Given the description of an element on the screen output the (x, y) to click on. 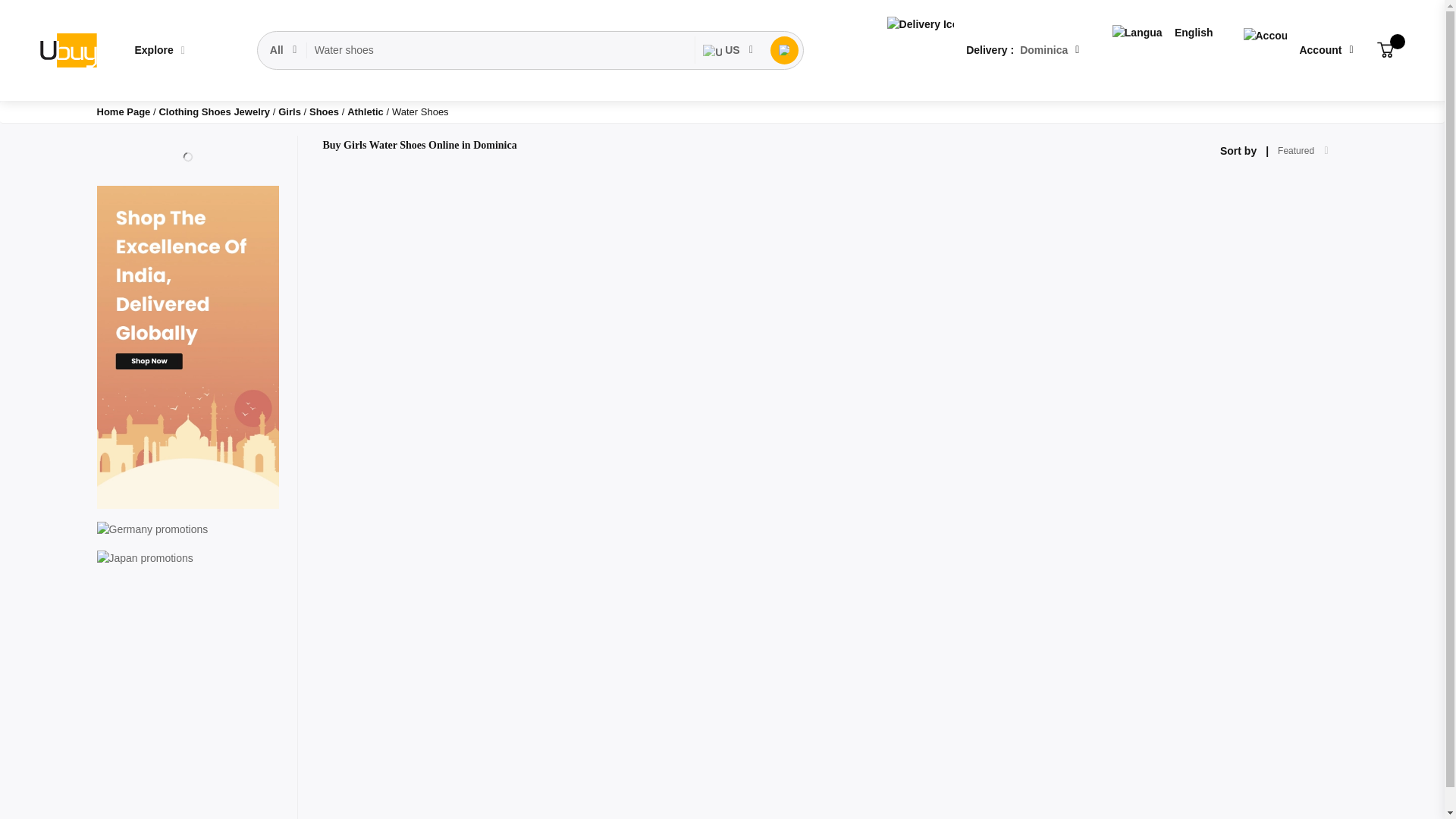
Home Page (124, 111)
Water shoes (500, 49)
Clothing Shoes Jewelry (215, 111)
US (728, 50)
All (283, 50)
Water shoes (500, 49)
Home Page (124, 111)
Cart (1385, 49)
Ubuy (67, 50)
